Given the description of an element on the screen output the (x, y) to click on. 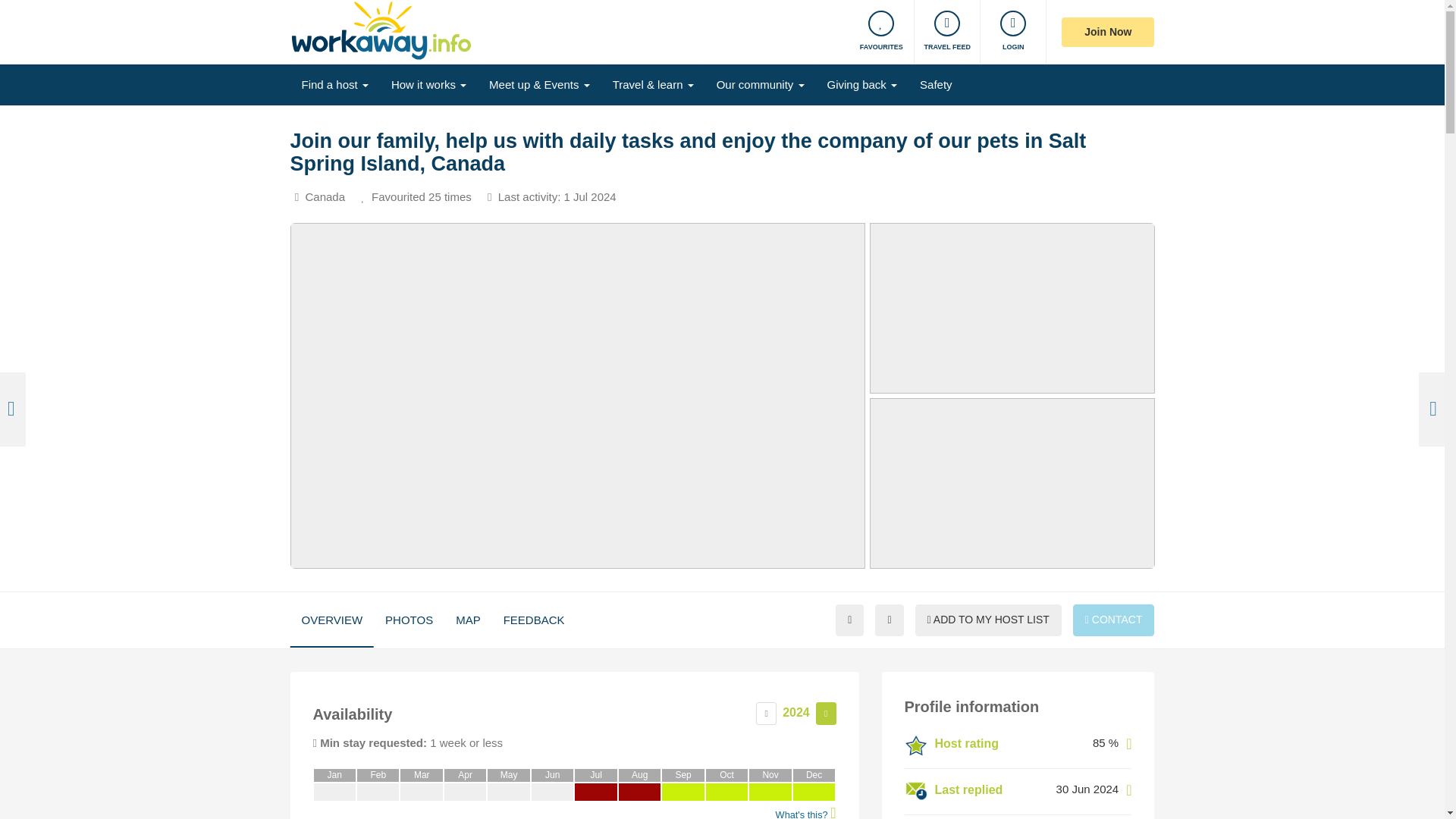
Travel feed (946, 32)
Last activity (555, 196)
What's this? (556, 196)
What's this? (1128, 746)
TRAVEL FEED (946, 32)
Join Now (1107, 31)
LOGIN (1012, 32)
FAVOURITES (881, 32)
Country (322, 196)
Find a host (333, 84)
What's this? (1128, 793)
